Given the description of an element on the screen output the (x, y) to click on. 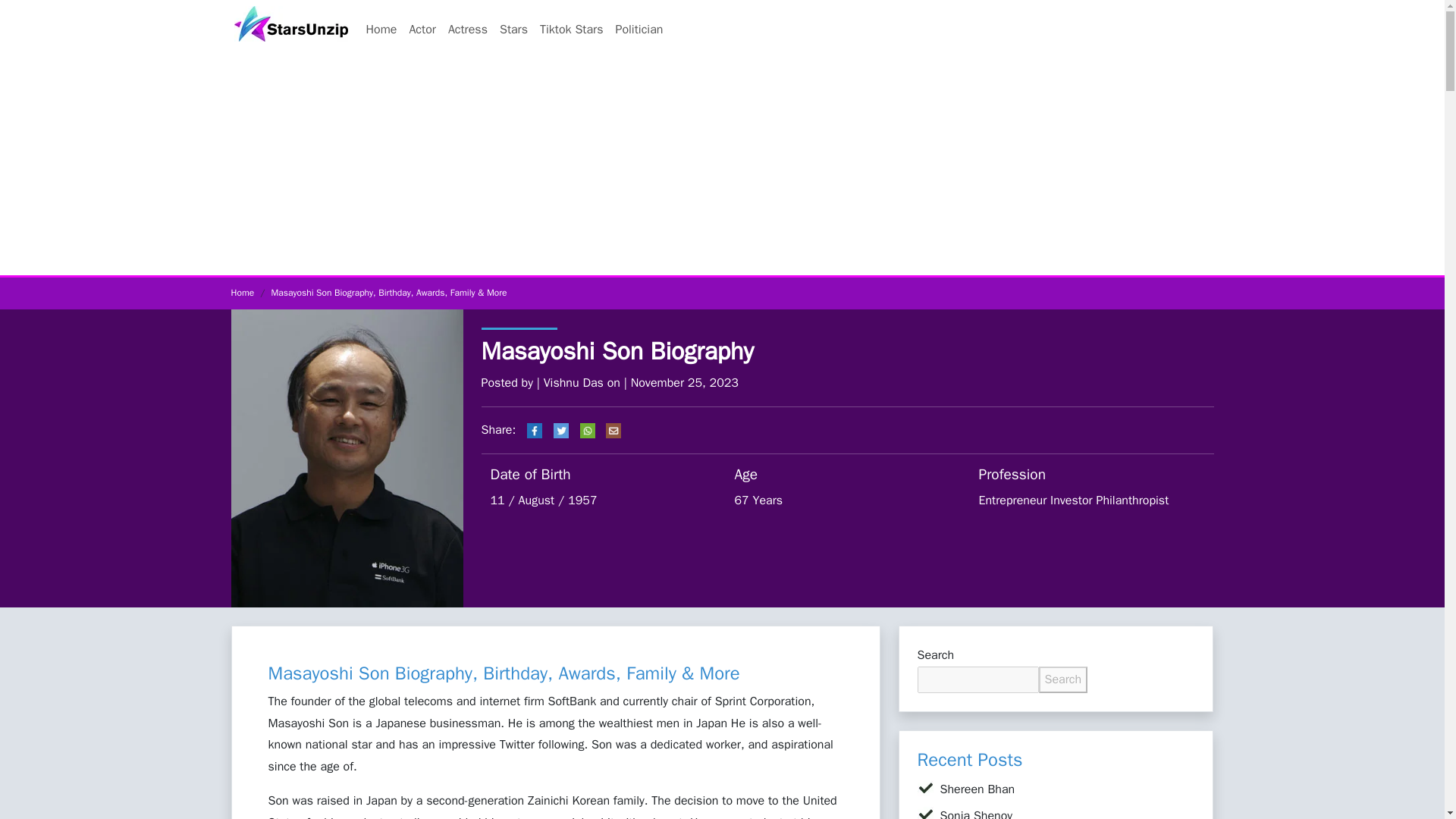
Politician (638, 29)
Stars (513, 29)
Search (1063, 679)
Actress (467, 29)
Tiktok Stars (571, 29)
Home (381, 29)
Actor (422, 29)
Shereen Bhan (977, 789)
Sonia Shenoy (976, 813)
